Given the description of an element on the screen output the (x, y) to click on. 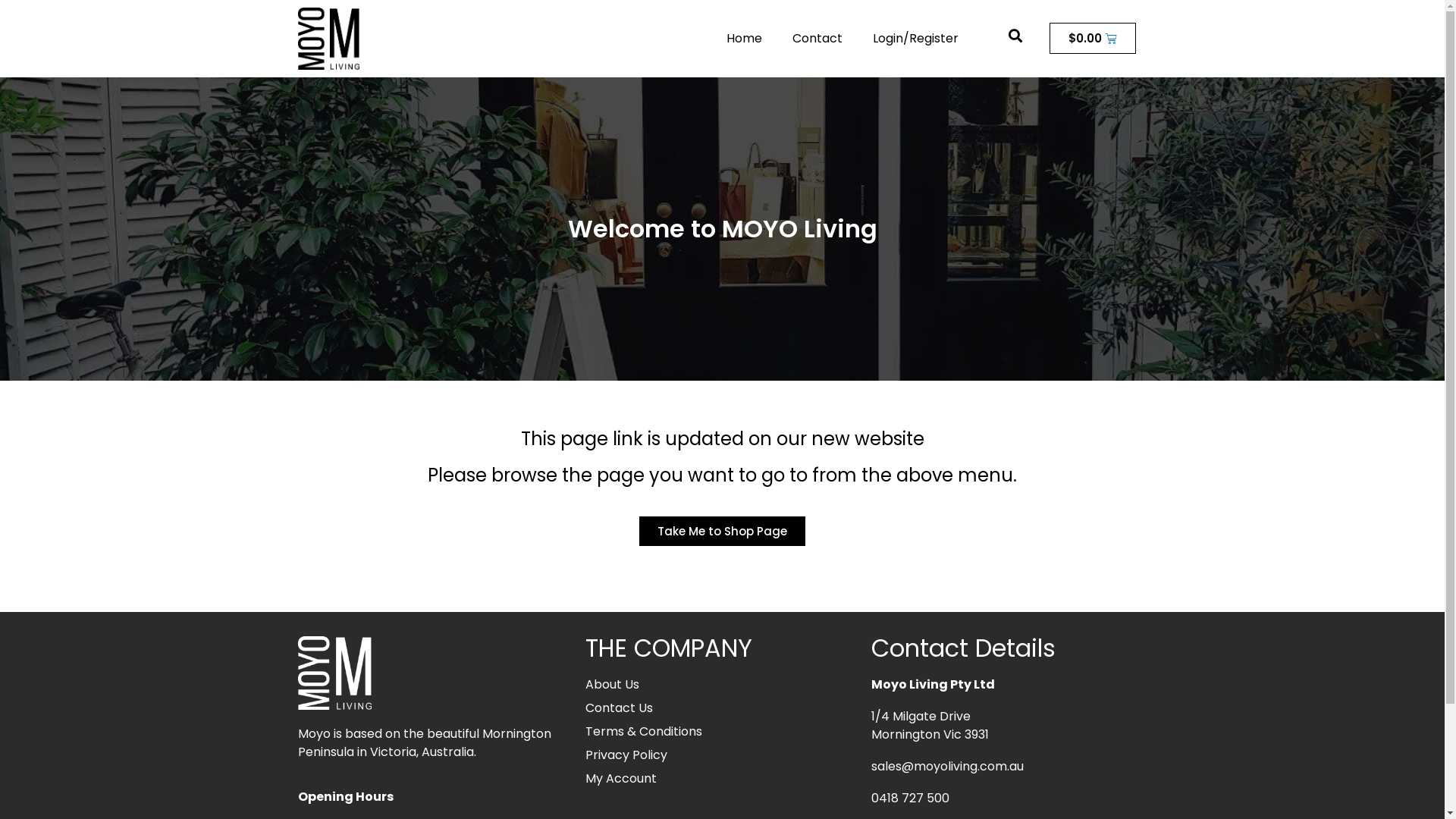
Contact Us Element type: text (720, 708)
$0.00 Element type: text (1092, 37)
Terms & Conditions Element type: text (720, 731)
Login/Register Element type: text (915, 38)
Home Element type: text (744, 38)
Privacy Policy Element type: text (720, 755)
Contact Element type: text (817, 38)
Take Me to Shop Page Element type: text (722, 531)
About Us Element type: text (720, 684)
My Account Element type: text (720, 778)
